Given the description of an element on the screen output the (x, y) to click on. 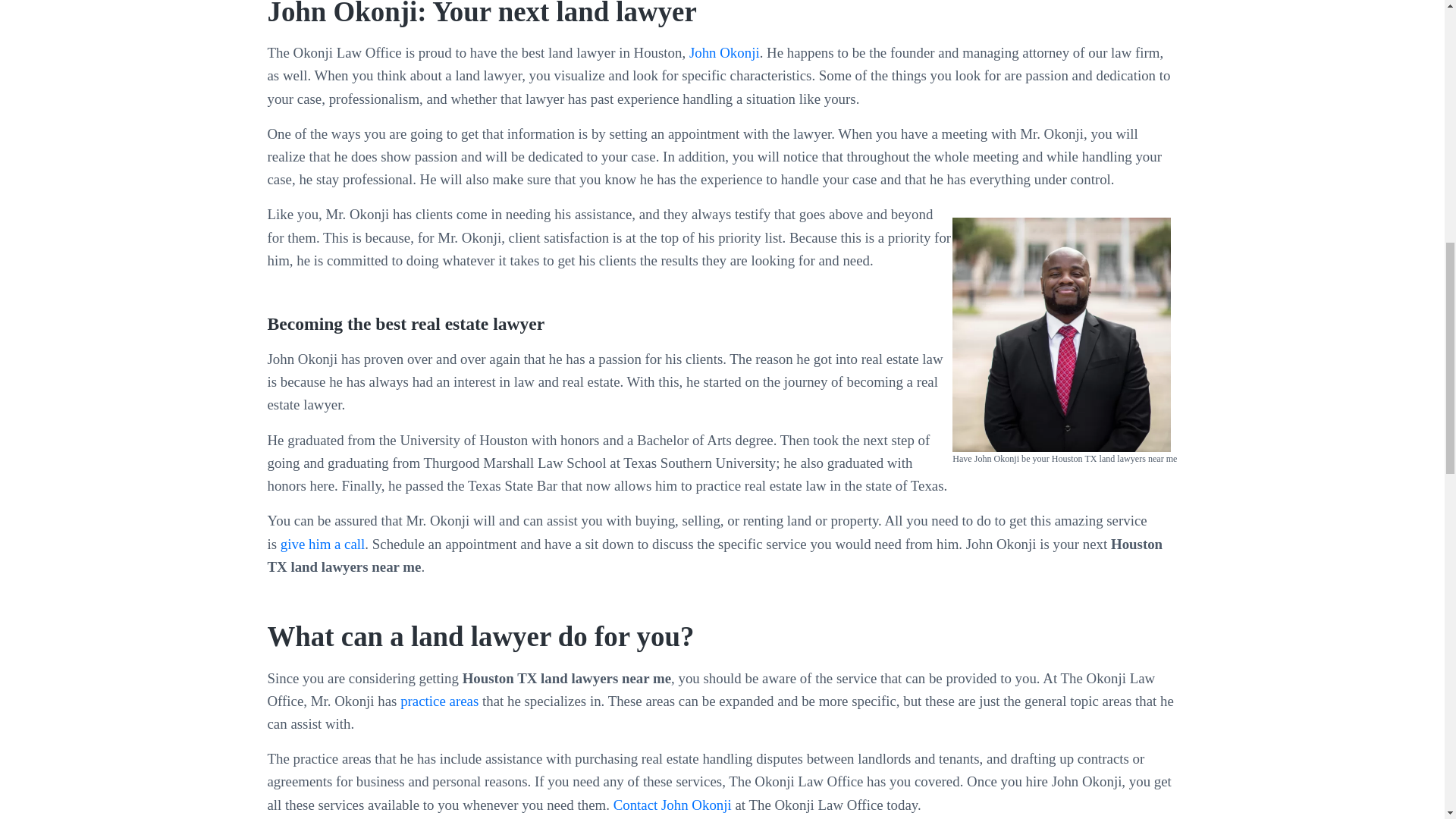
Contact John Okonji (672, 804)
give him a call (323, 544)
John Okonji (724, 52)
practice areas (439, 700)
